Given the description of an element on the screen output the (x, y) to click on. 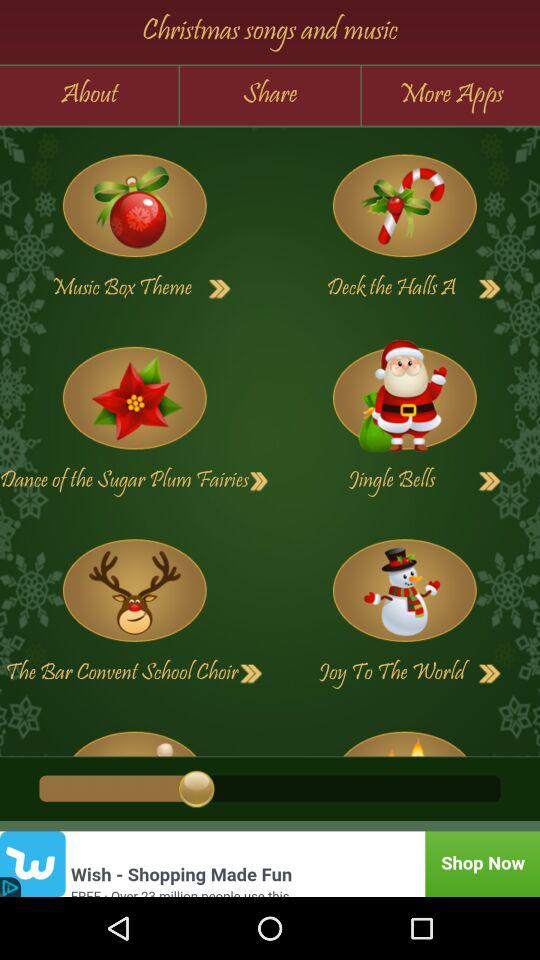
select song (134, 736)
